Given the description of an element on the screen output the (x, y) to click on. 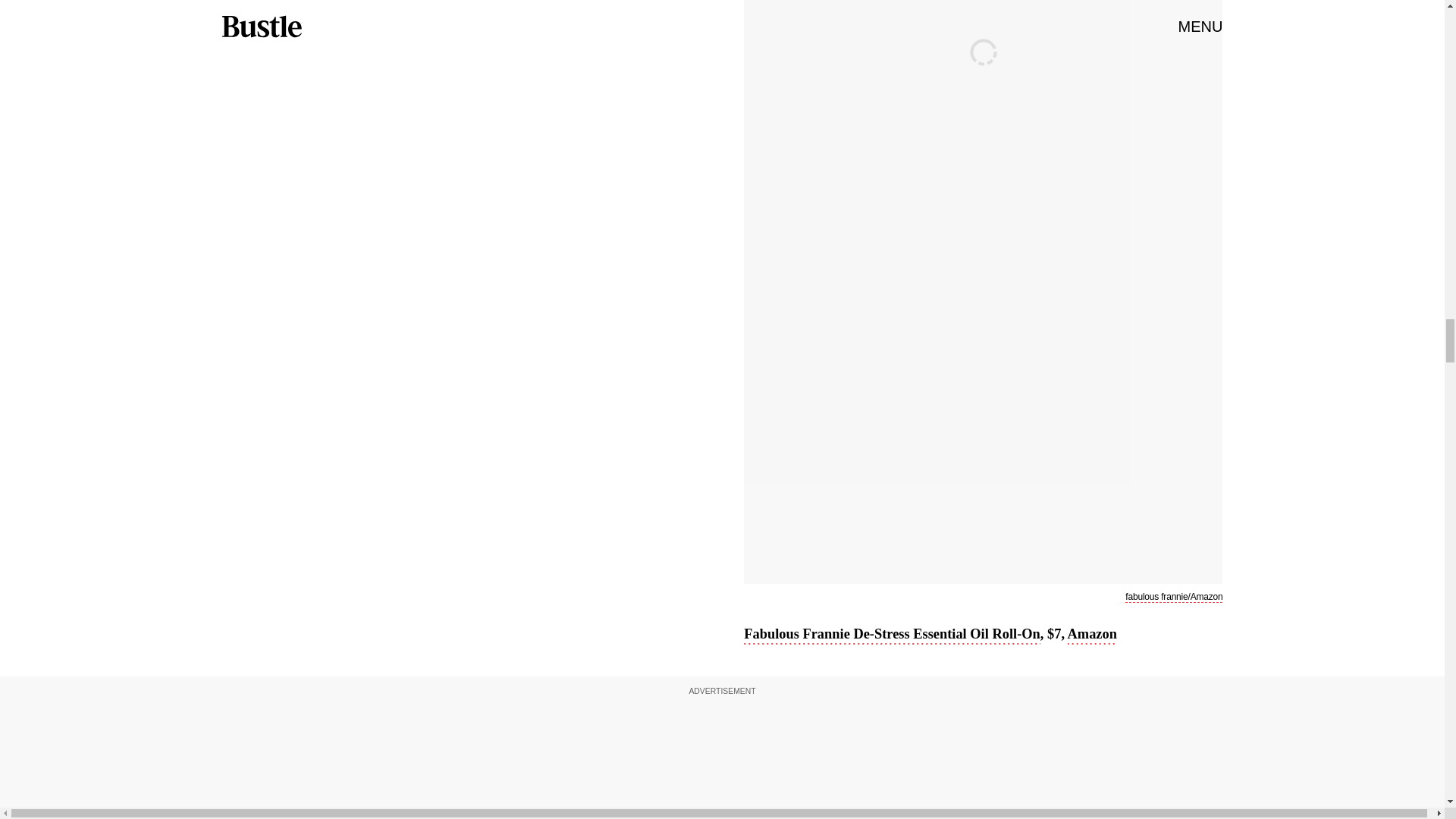
Amazon (1091, 635)
Fabulous Frannie De-Stress Essential Oil Roll-On (892, 635)
